Given the description of an element on the screen output the (x, y) to click on. 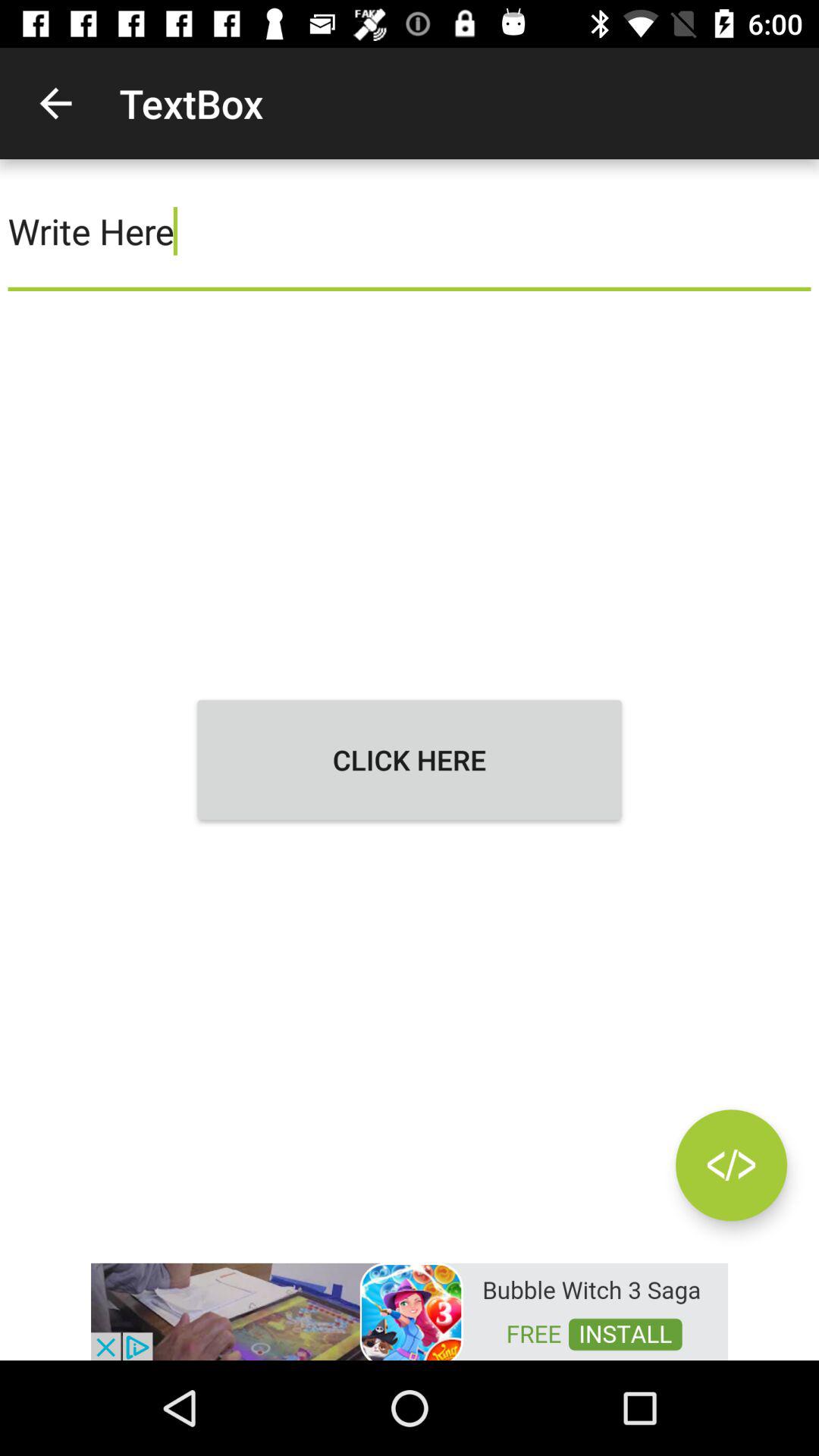
move between text option (731, 1165)
